Given the description of an element on the screen output the (x, y) to click on. 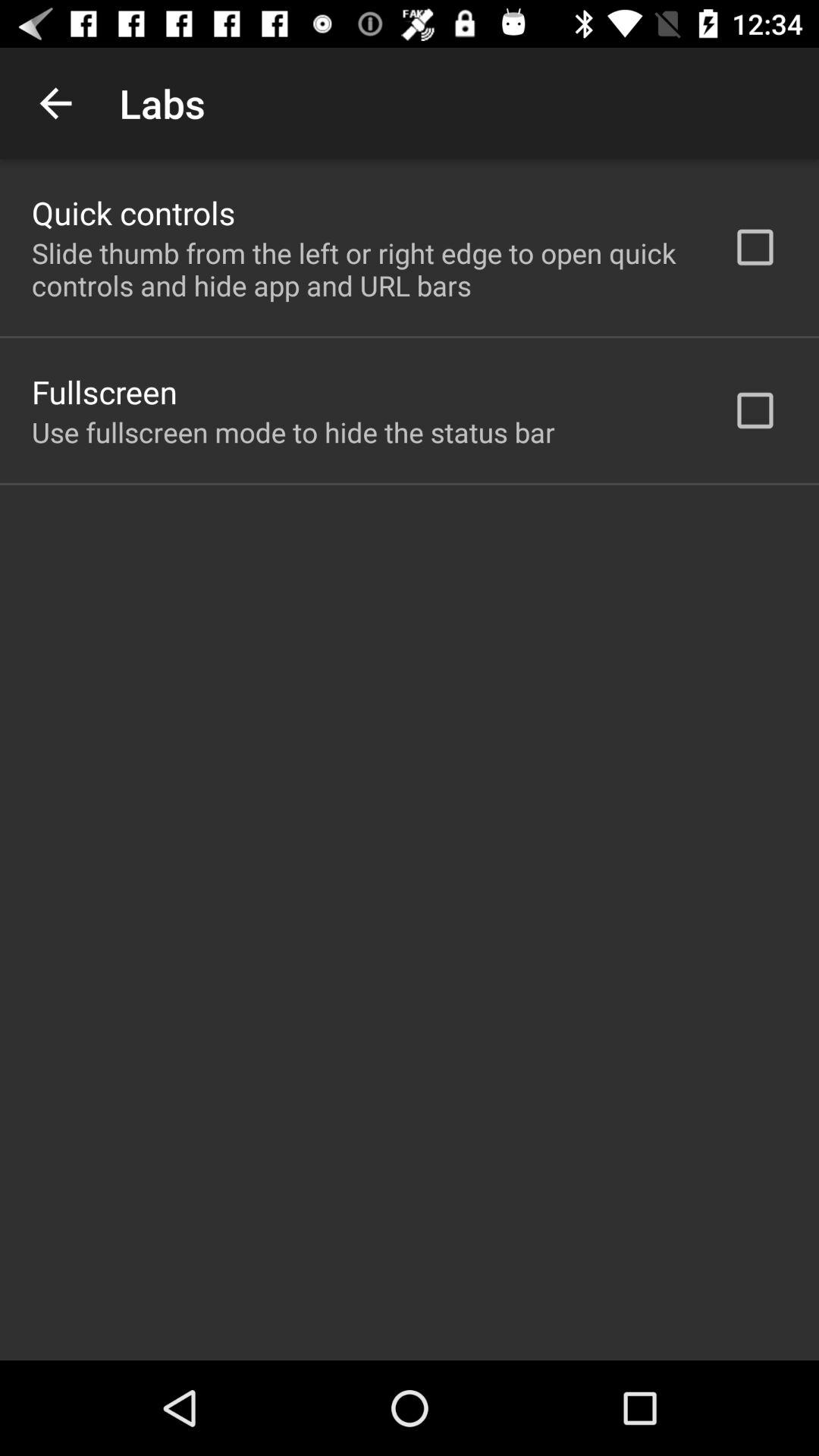
turn on the icon to the left of the labs app (55, 103)
